Given the description of an element on the screen output the (x, y) to click on. 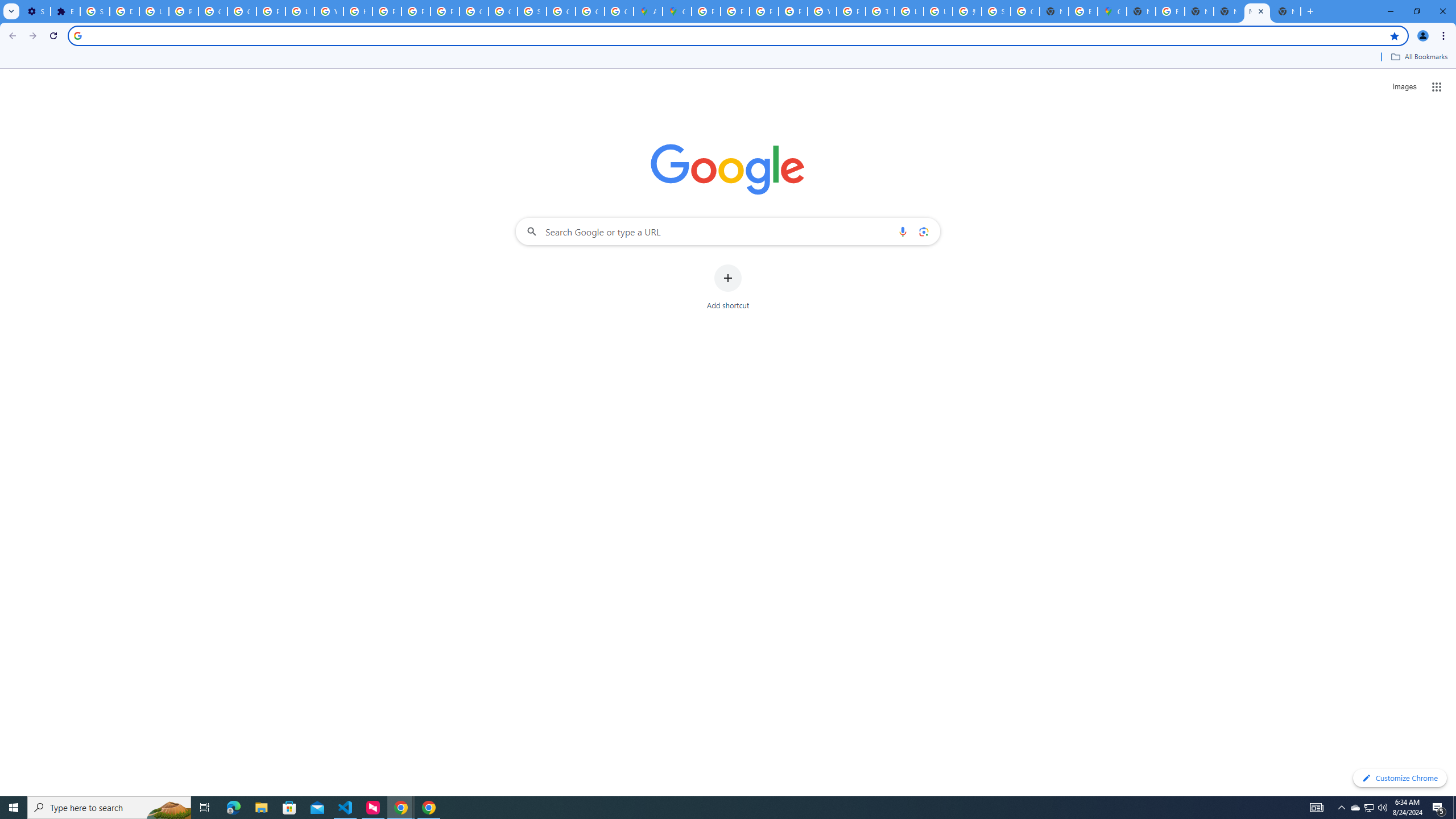
Google Maps (677, 11)
